Given the description of an element on the screen output the (x, y) to click on. 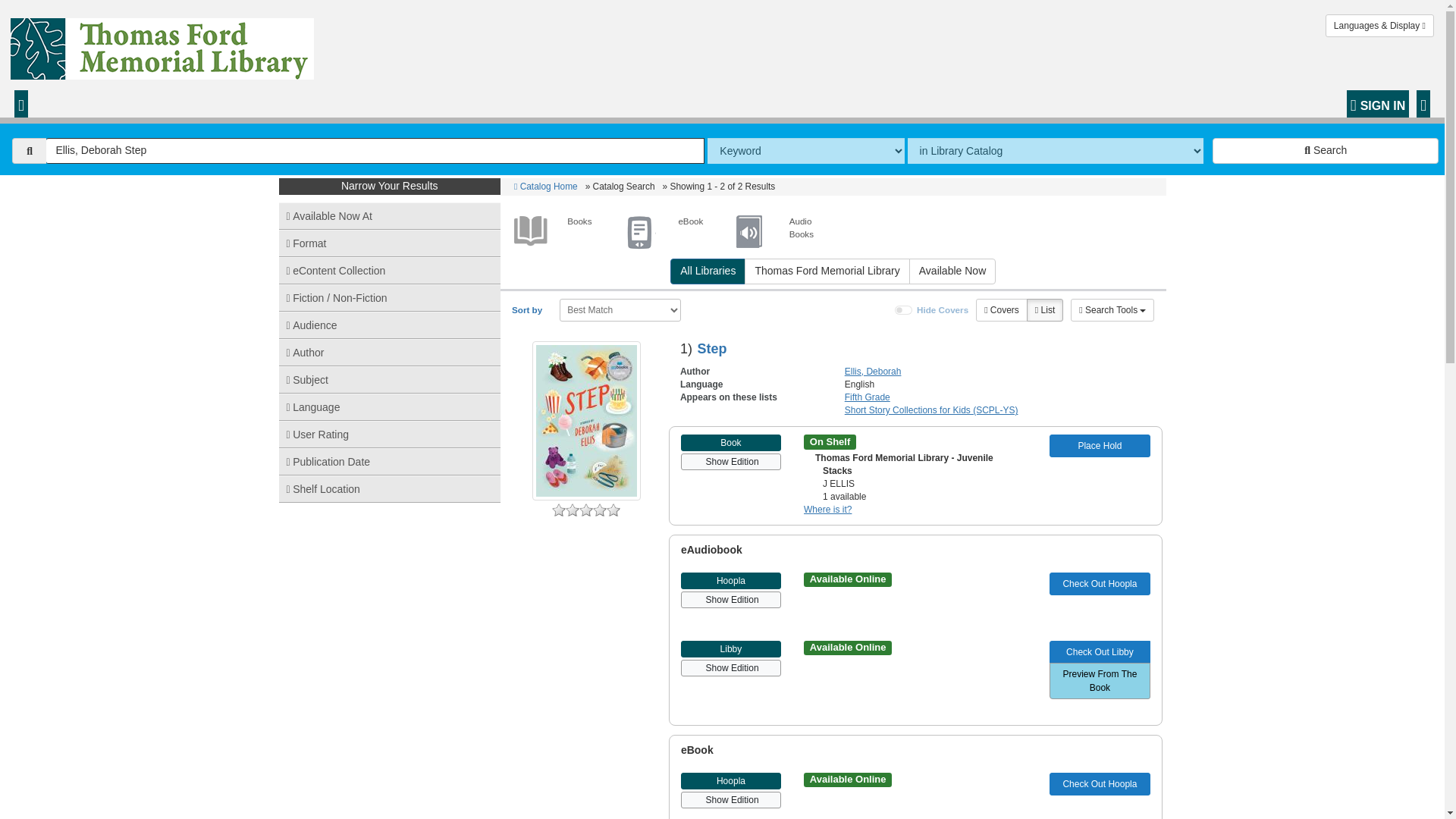
The method of searching. (805, 150)
 Search (1325, 150)
All Libraries (707, 271)
Catalog Home (545, 185)
SIGN IN (1377, 103)
Books (555, 231)
Audio Books (777, 231)
Available Now (951, 271)
eBook (666, 231)
on (903, 309)
Login (1377, 103)
Thomas Ford Memorial Library (826, 271)
Ellis, Deborah Step (375, 150)
Search Tools (1112, 309)
Library Home Page (165, 44)
